Given the description of an element on the screen output the (x, y) to click on. 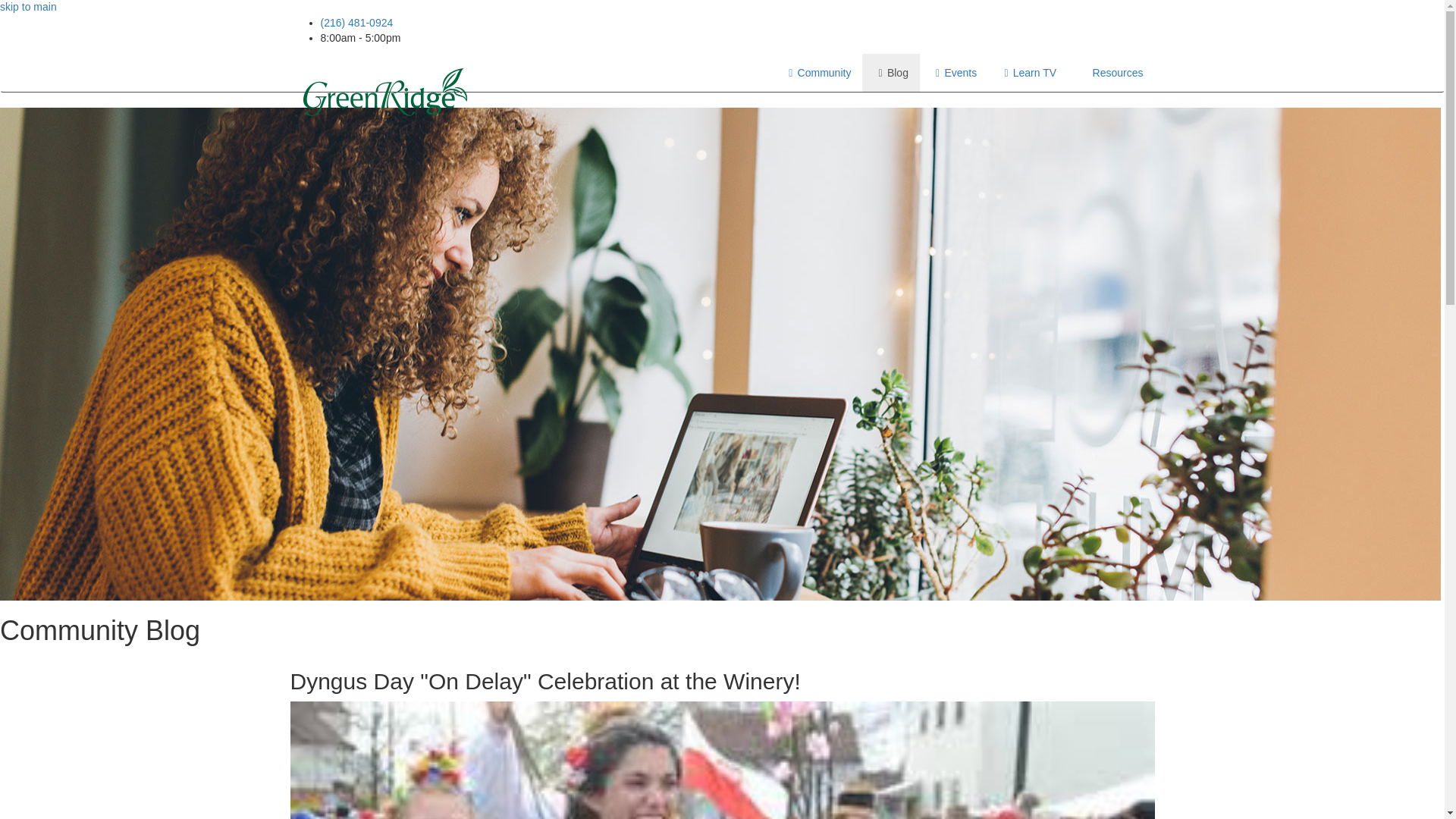
Community (817, 72)
skip to main (28, 6)
Learn TV (1027, 72)
Blog (890, 72)
Events (954, 72)
Resources (1110, 72)
